Given the description of an element on the screen output the (x, y) to click on. 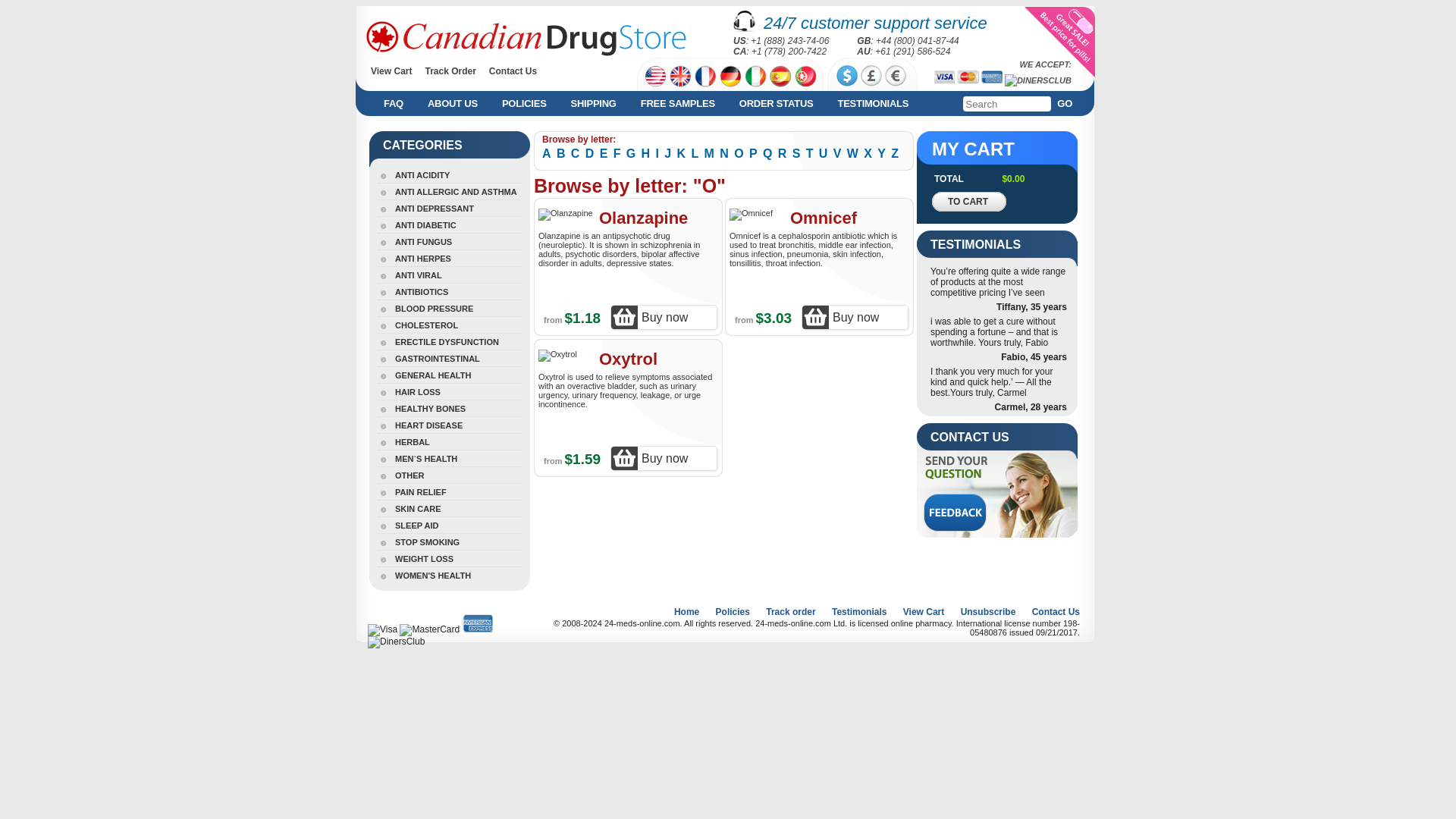
ORDER STATUS (772, 103)
Policies (521, 103)
GBP (871, 75)
MasterCard (967, 76)
Visa (944, 76)
GO (1067, 103)
AmEx (992, 76)
ANTI VIRAL (410, 274)
ANTI DIABETIC (417, 224)
SHIPPING (591, 103)
HAIR LOSS (409, 391)
Track Order (450, 71)
ABOUT US (449, 103)
ANTI HERPES (414, 258)
TESTIMONIALS (869, 103)
